Given the description of an element on the screen output the (x, y) to click on. 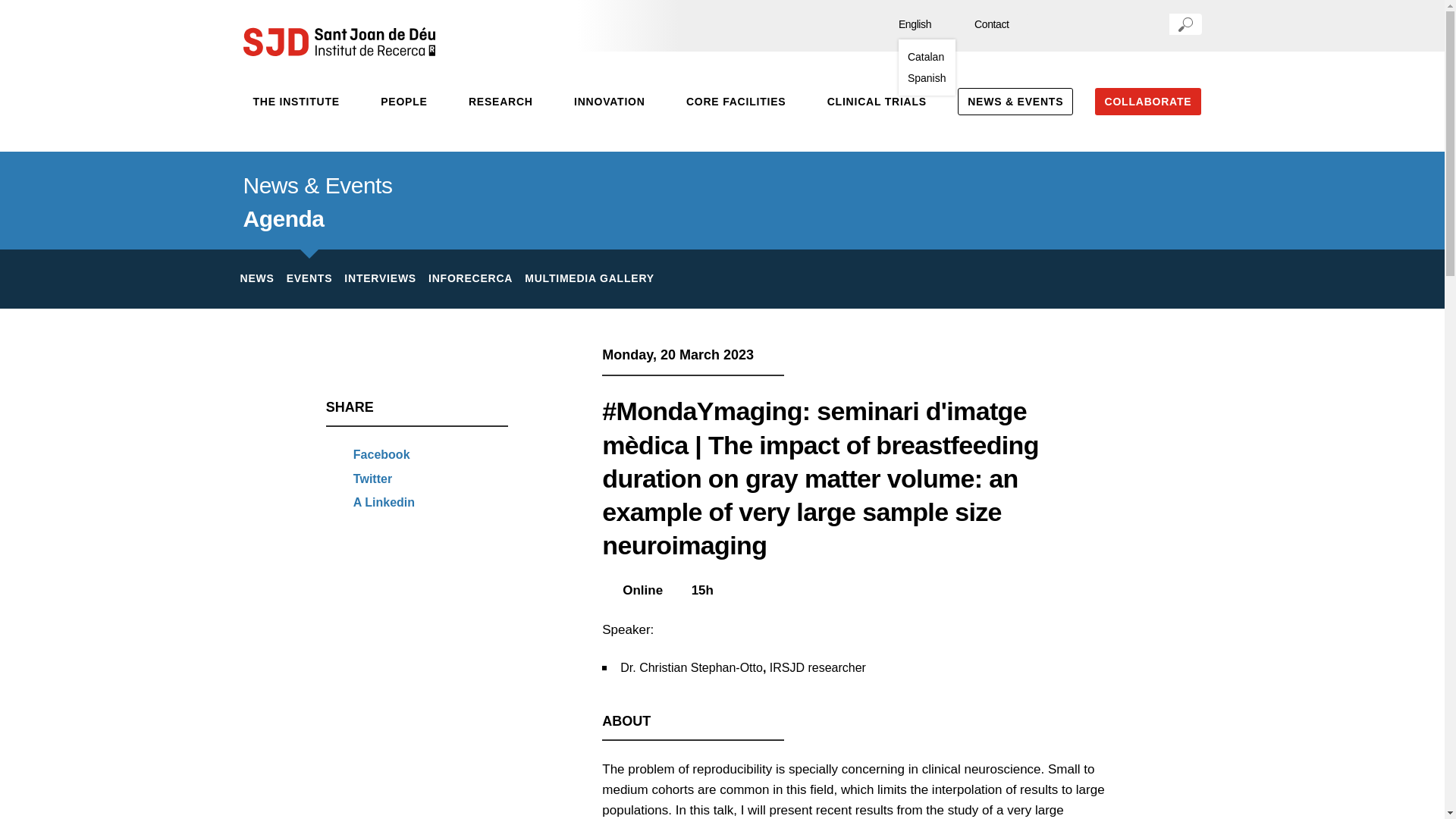
MULTIMEDIA GALLERY (588, 278)
RESEARCH (500, 101)
INTERVIEWS (379, 278)
EVENTS (309, 278)
CORE FACILITIES (736, 101)
INFORECERCA (470, 278)
Contact (984, 24)
Agenda (283, 218)
COLLABORATE (1148, 101)
INNOVATION (609, 101)
